Given the description of an element on the screen output the (x, y) to click on. 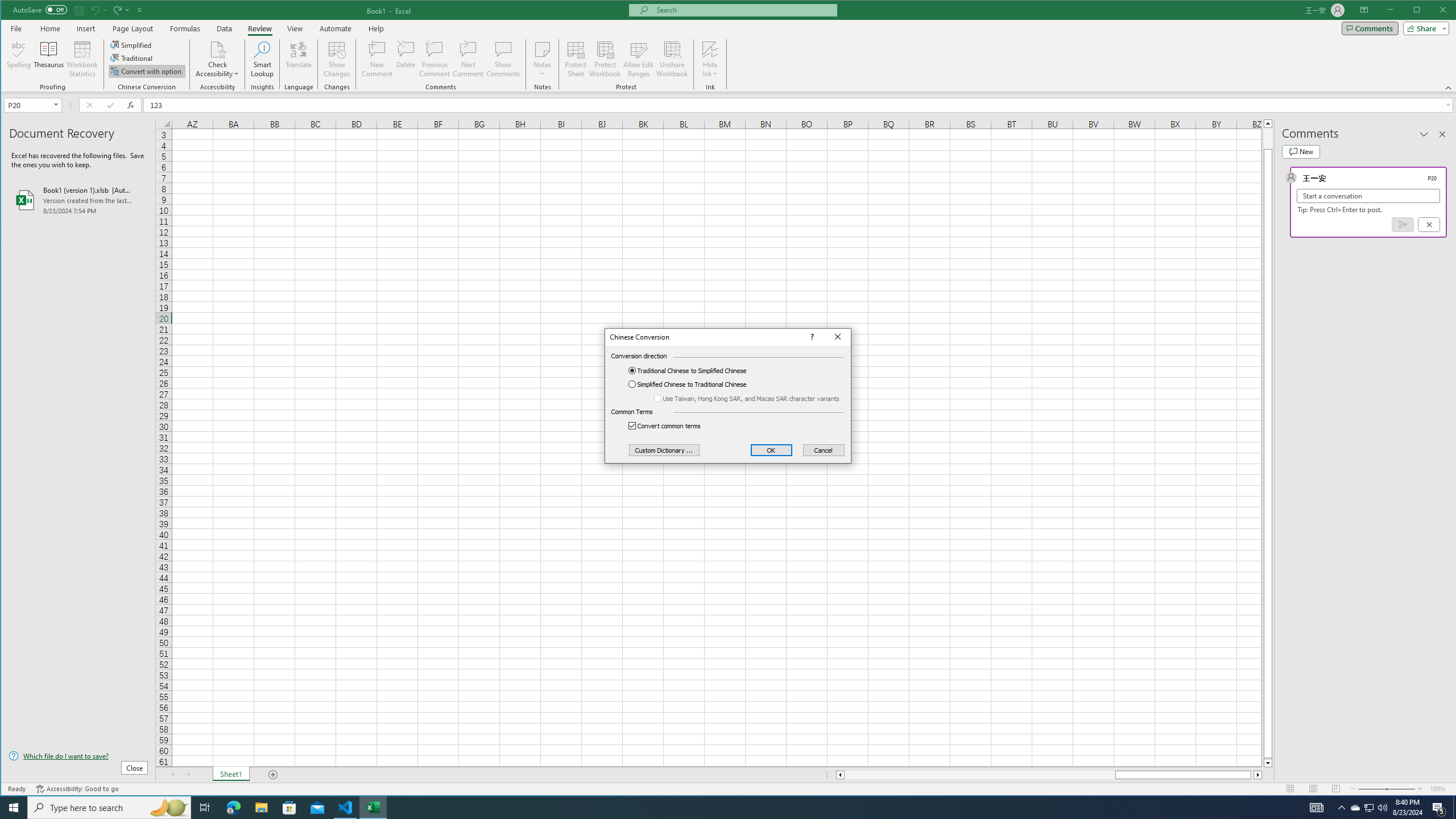
Action Center, 5 new notifications (1439, 807)
Context help (810, 336)
Use Taiwan, Hong Kong SAR, and Macao SAR character variants (748, 397)
Search highlights icon opens search home window (167, 807)
Task View (204, 807)
Page up (1355, 807)
